Given the description of an element on the screen output the (x, y) to click on. 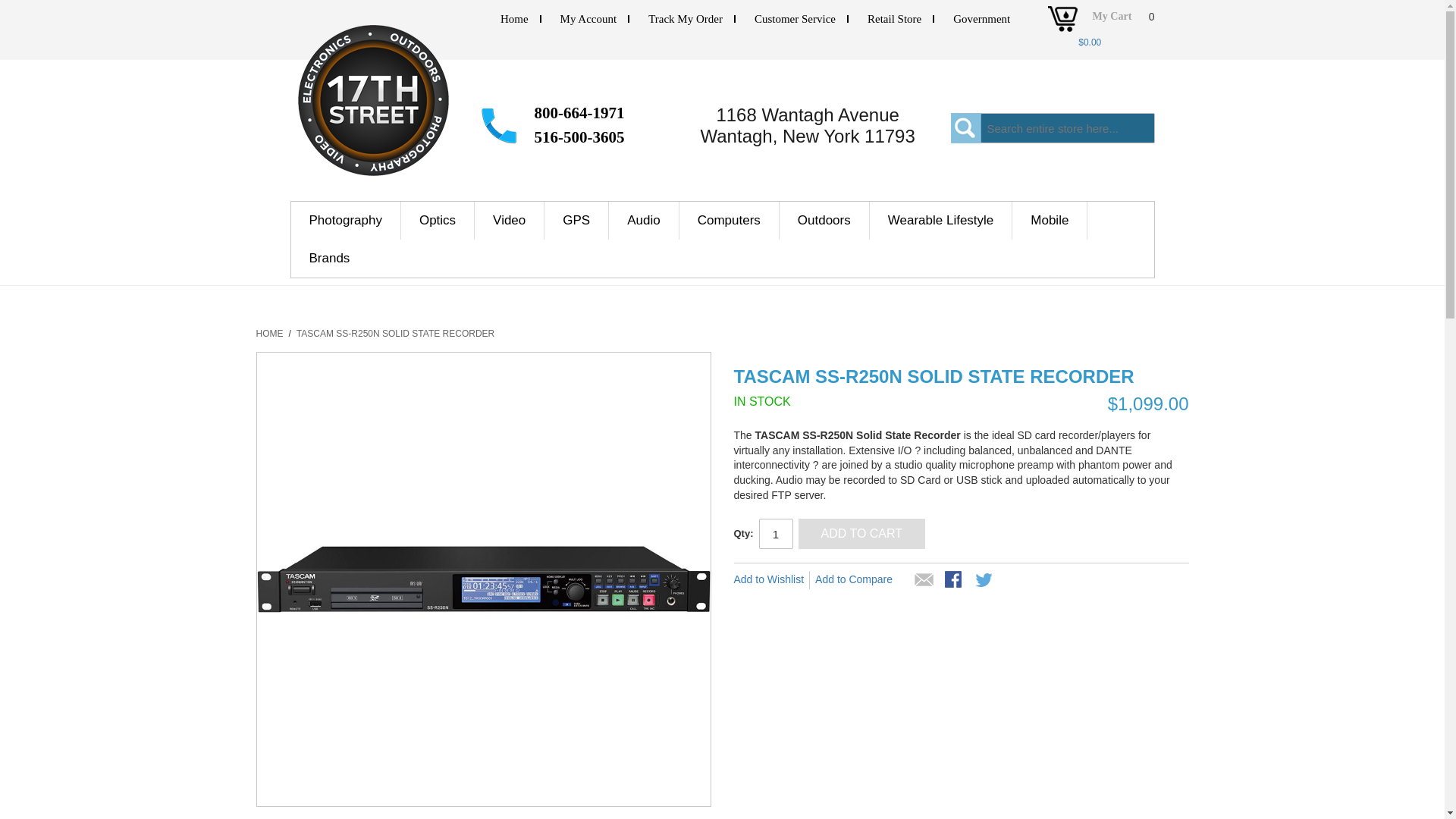
Email to a Friend (924, 580)
Photography (346, 220)
Go to Home Page (269, 333)
Video (509, 220)
Customer Service (794, 19)
Retail Store (894, 19)
Optics (437, 220)
Home (514, 19)
GPS (576, 220)
Search (965, 128)
